Given the description of an element on the screen output the (x, y) to click on. 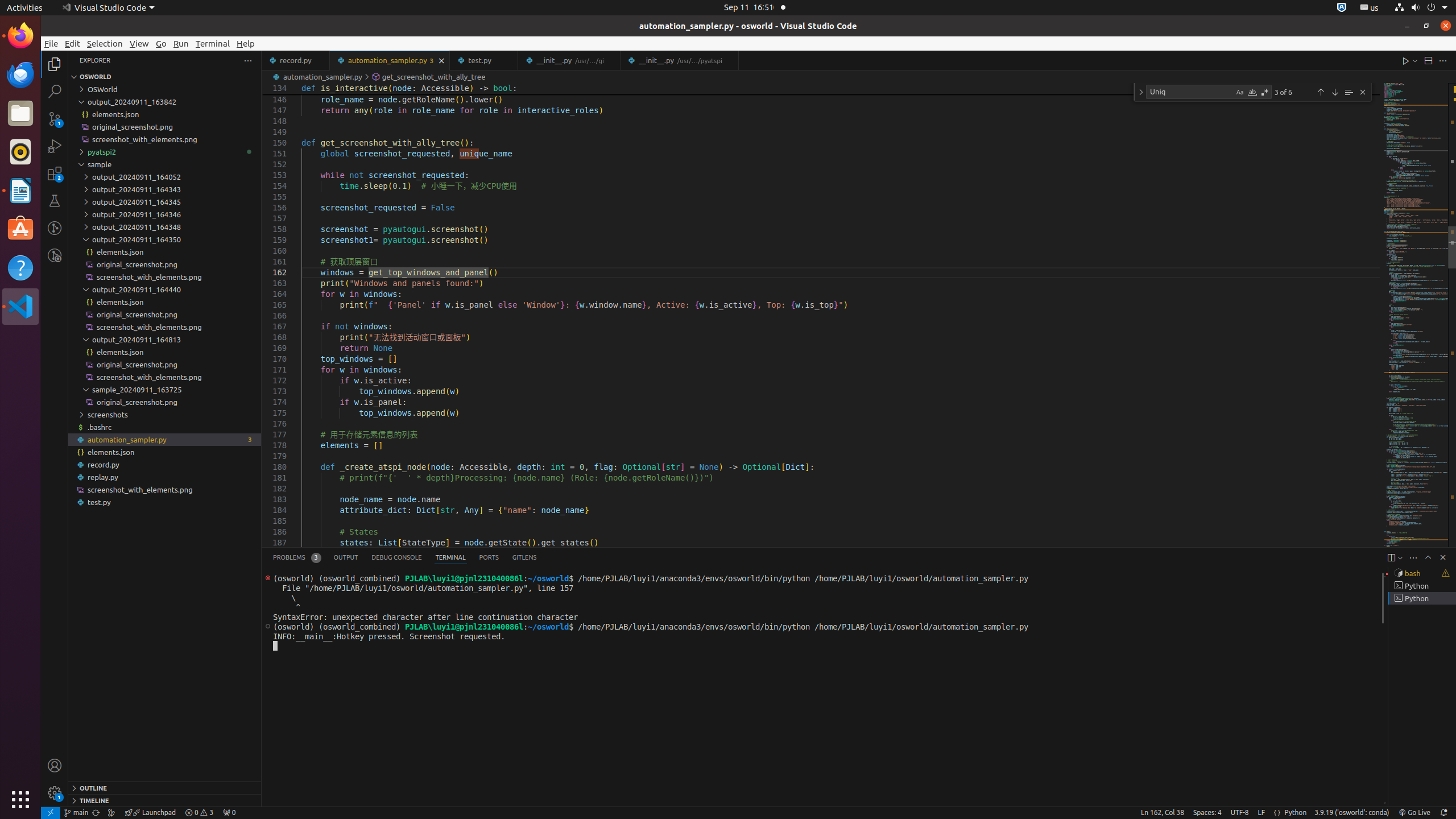
Terminal 1 bash Element type: list-item (1422, 573)
Run Element type: push-button (181, 43)
UTF-8 Element type: push-button (1239, 812)
Active View Switcher Element type: page-tab-list (404, 557)
output_20240911_164813 Element type: tree-item (164, 339)
